Given the description of an element on the screen output the (x, y) to click on. 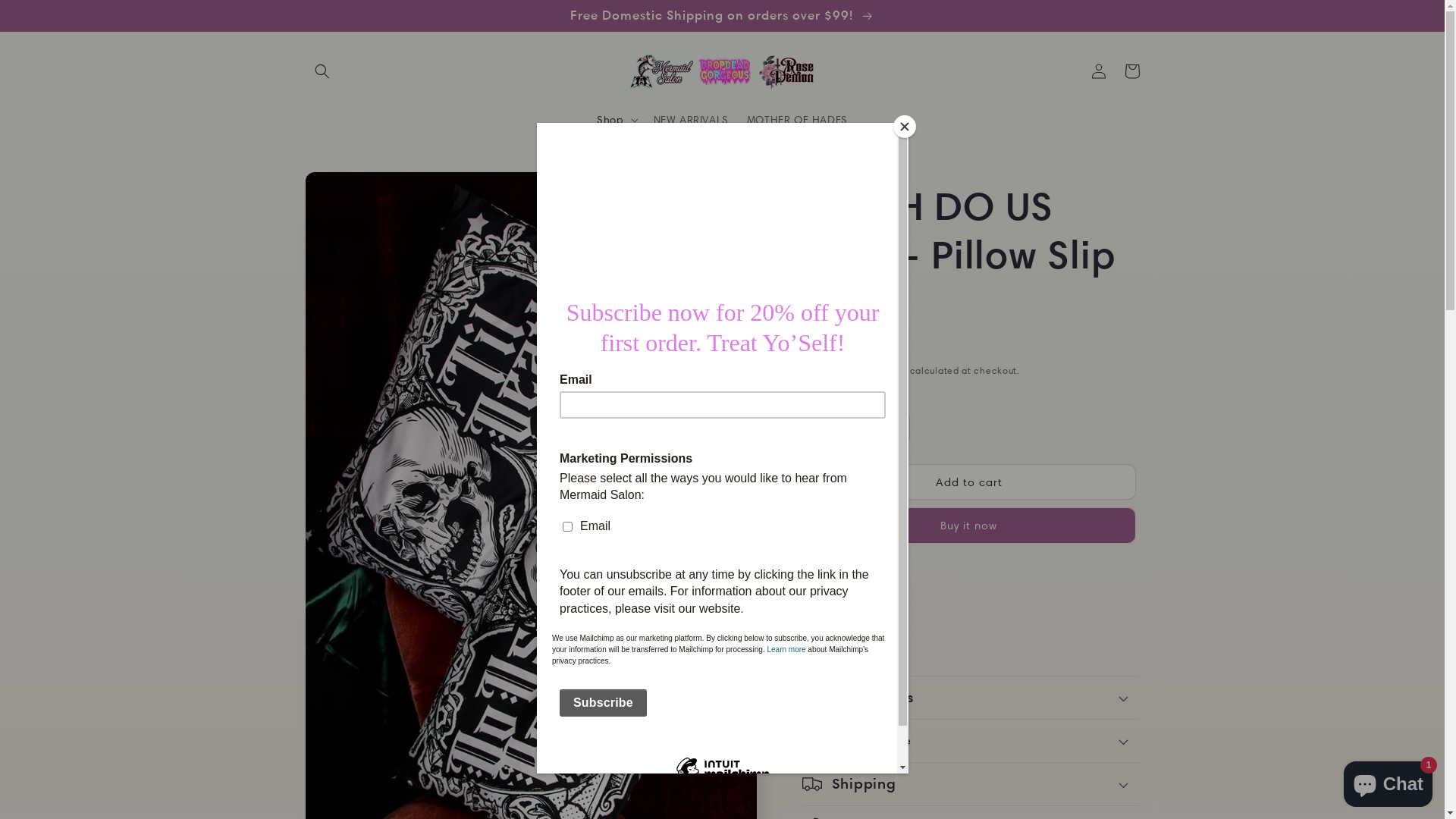
Cart Element type: text (1131, 70)
Shipping Element type: text (886, 370)
Buy it now Element type: text (968, 525)
Increase quantity for DEATH DO US PART - Pillow Slip Set Element type: text (892, 427)
Add to cart Element type: text (968, 481)
Decrease quantity for DEATH DO US PART - Pillow Slip Set Element type: text (819, 427)
MOTHER OF HADES Element type: text (796, 119)
Log in Element type: text (1097, 70)
Free Domestic Shipping on orders over $99! Element type: text (722, 15)
Shopify online store chat Element type: hover (1388, 780)
NEW ARRIVALS Element type: text (690, 119)
Skip to product information Element type: text (350, 189)
